Given the description of an element on the screen output the (x, y) to click on. 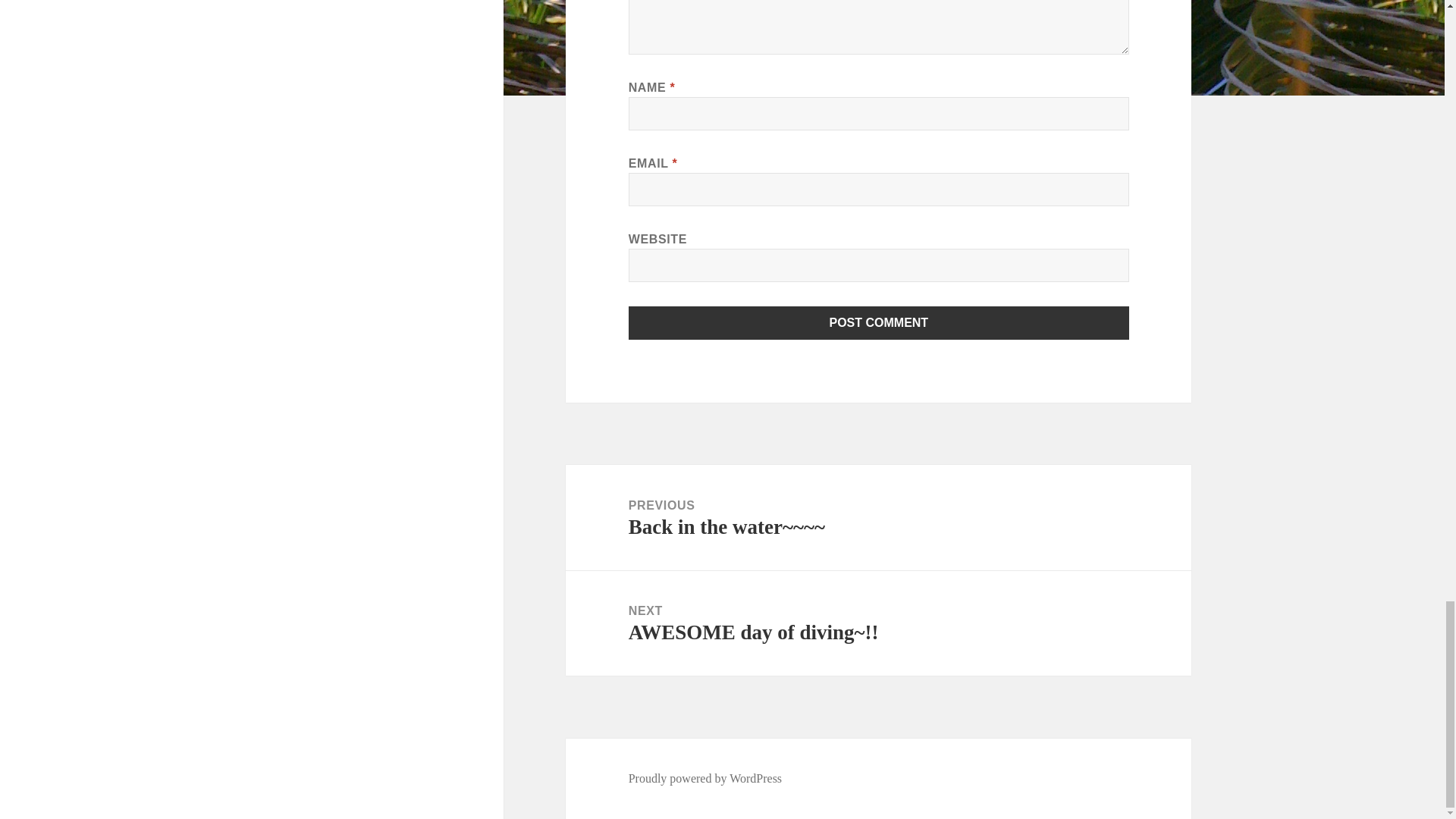
Proudly powered by WordPress (704, 778)
Post Comment (878, 322)
Post Comment (878, 322)
